Given the description of an element on the screen output the (x, y) to click on. 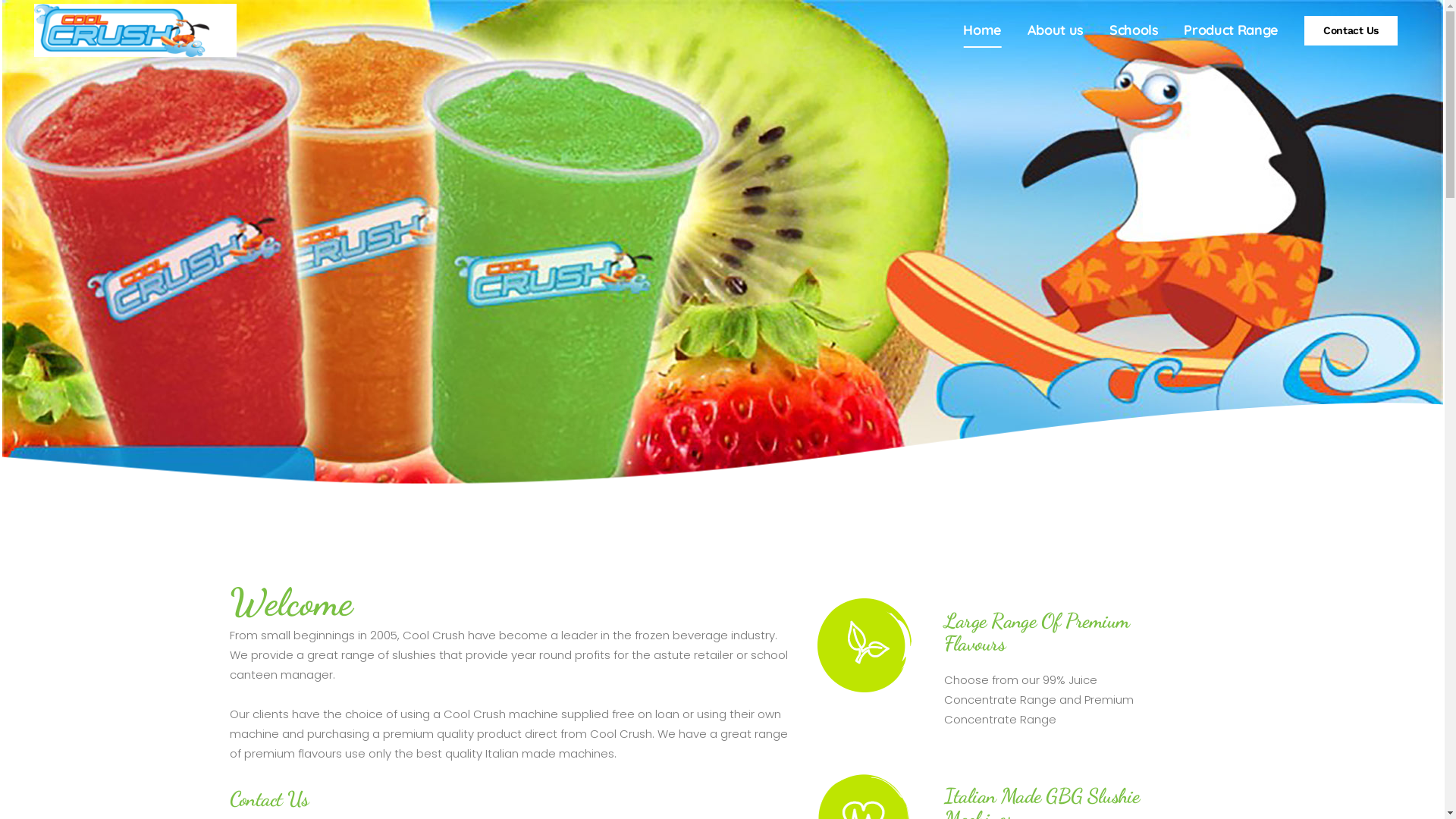
Schools Element type: text (1133, 30)
Contact Us Element type: text (1350, 29)
Product Range Element type: text (1230, 30)
About us Element type: text (1055, 30)
Home Element type: text (982, 30)
shape2 Element type: hover (722, 476)
